Given the description of an element on the screen output the (x, y) to click on. 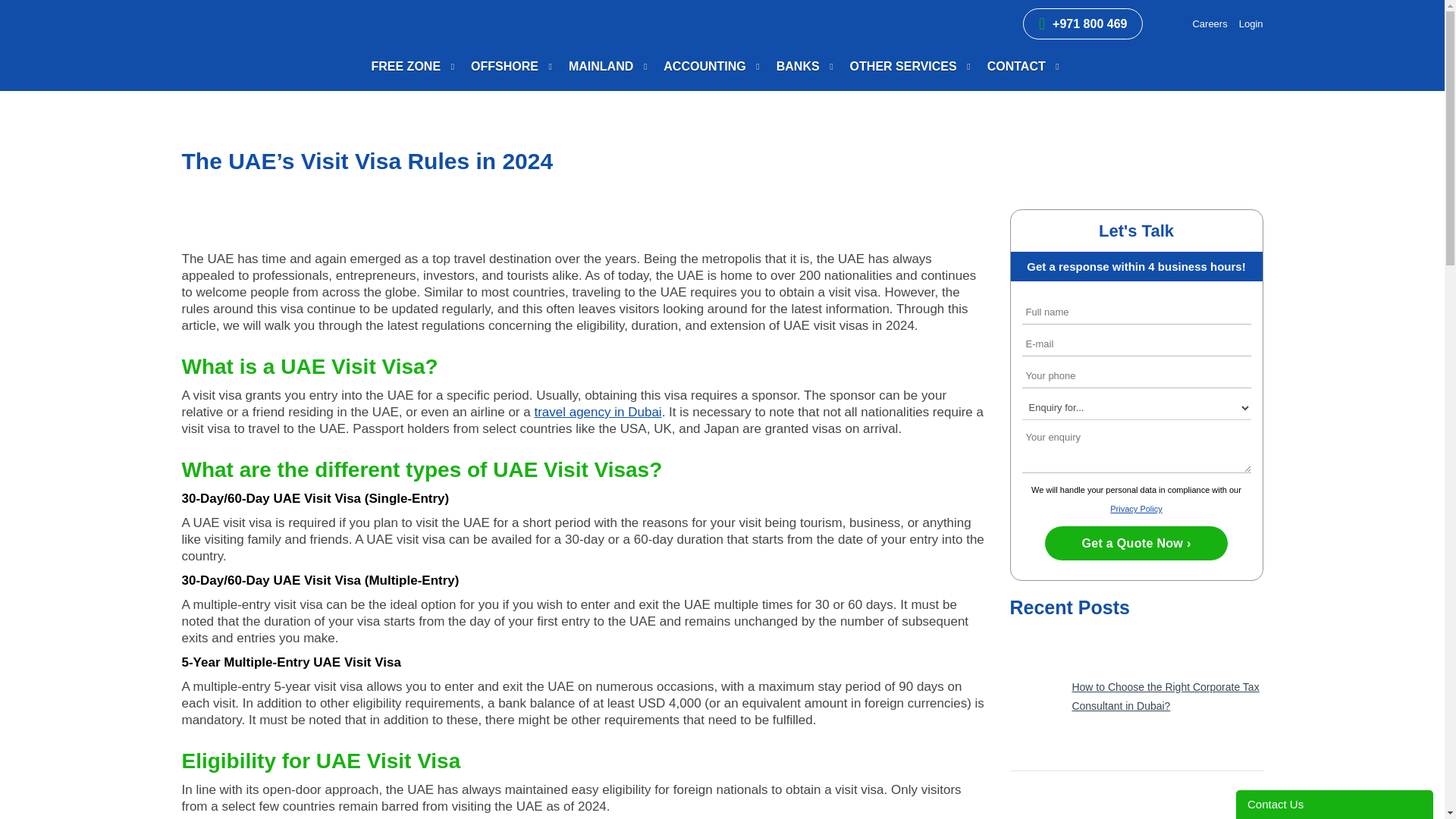
What are Non-Resident Bank Accounts in the UAE? (1136, 798)
Privacy Policy (1135, 508)
Blog (232, 114)
Home (196, 114)
Login (1251, 23)
InZone Corporate Services Provider (254, 36)
InZone Privacy Policy (1135, 508)
InZone Corporate Services Provider (196, 114)
Blog (1209, 23)
Blog (232, 114)
travel agency in Dubai (597, 411)
How to Choose the Right Corporate Tax Consultant in Dubai? (1136, 695)
